Given the description of an element on the screen output the (x, y) to click on. 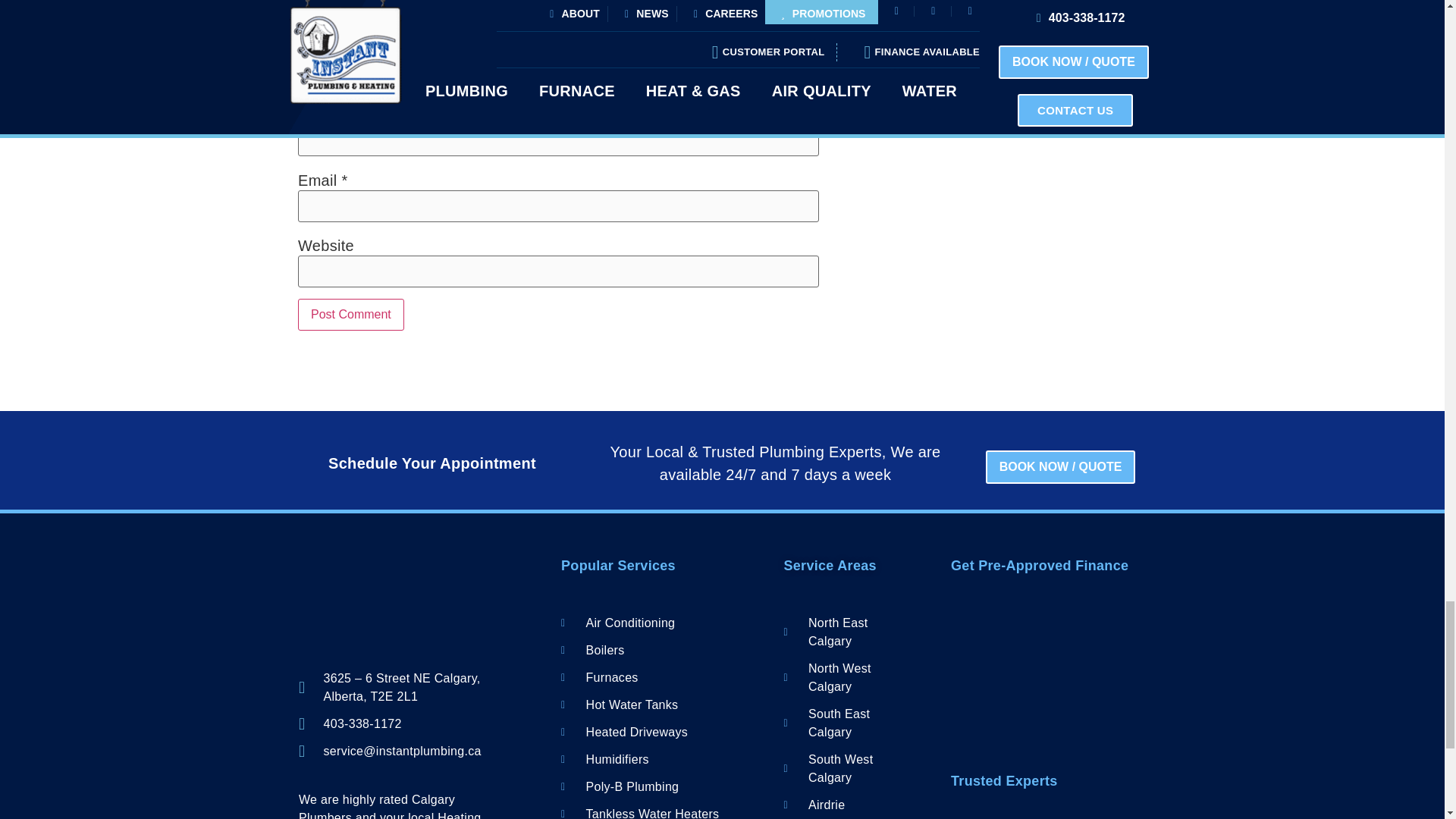
financeitlogo (1047, 627)
Post Comment (351, 314)
